Given the description of an element on the screen output the (x, y) to click on. 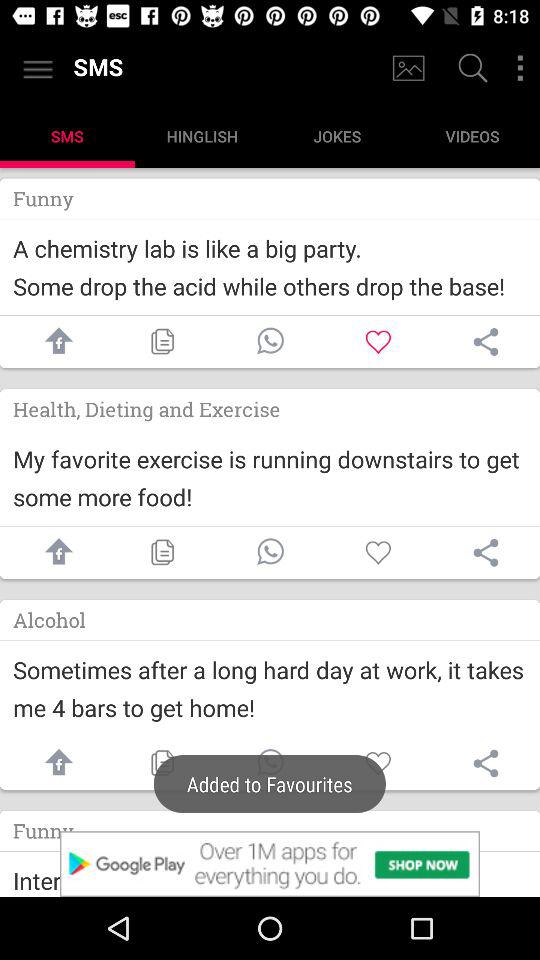
go to facebook (54, 763)
